Given the description of an element on the screen output the (x, y) to click on. 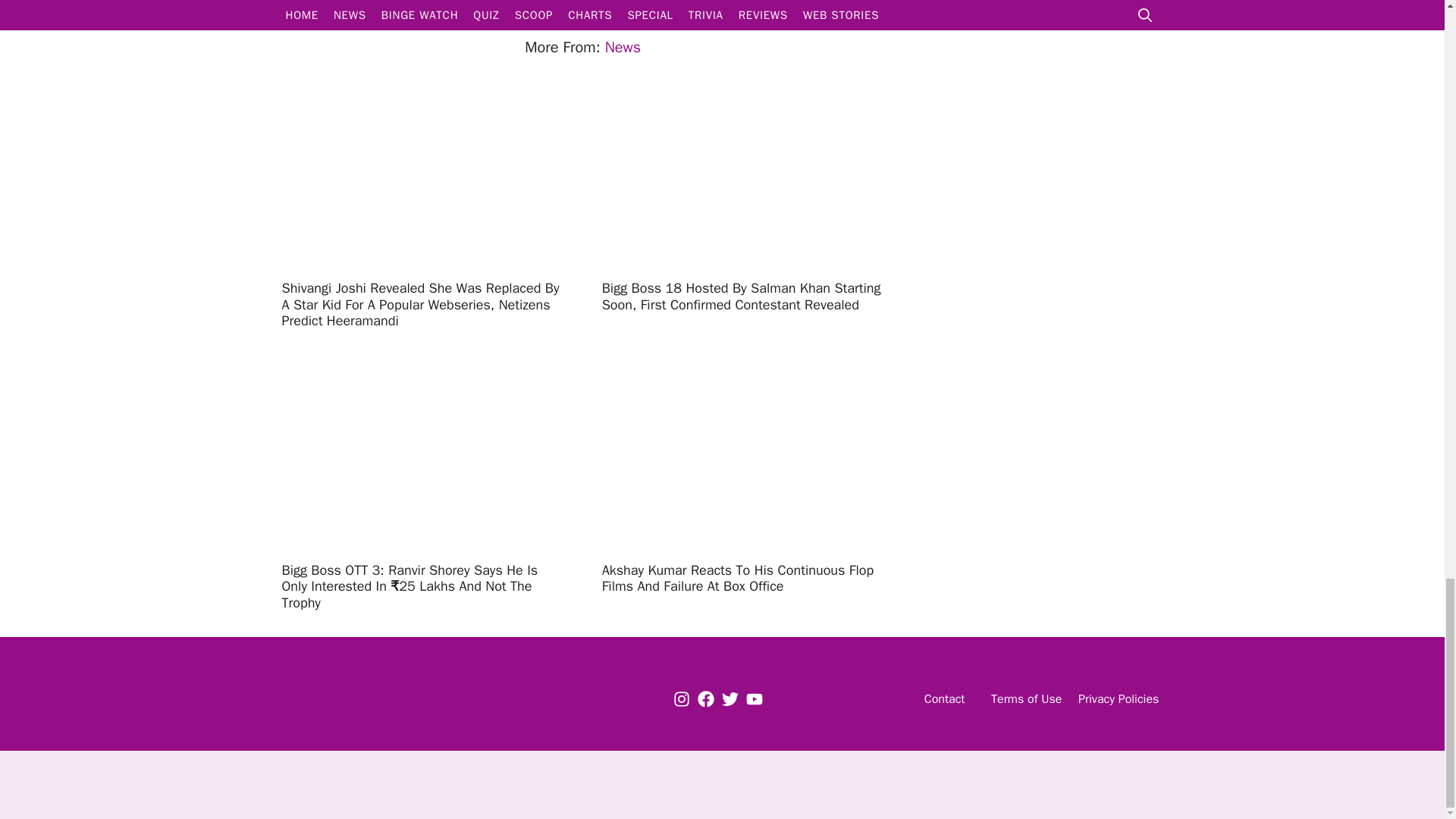
Logo x1 (372, 699)
